Given the description of an element on the screen output the (x, y) to click on. 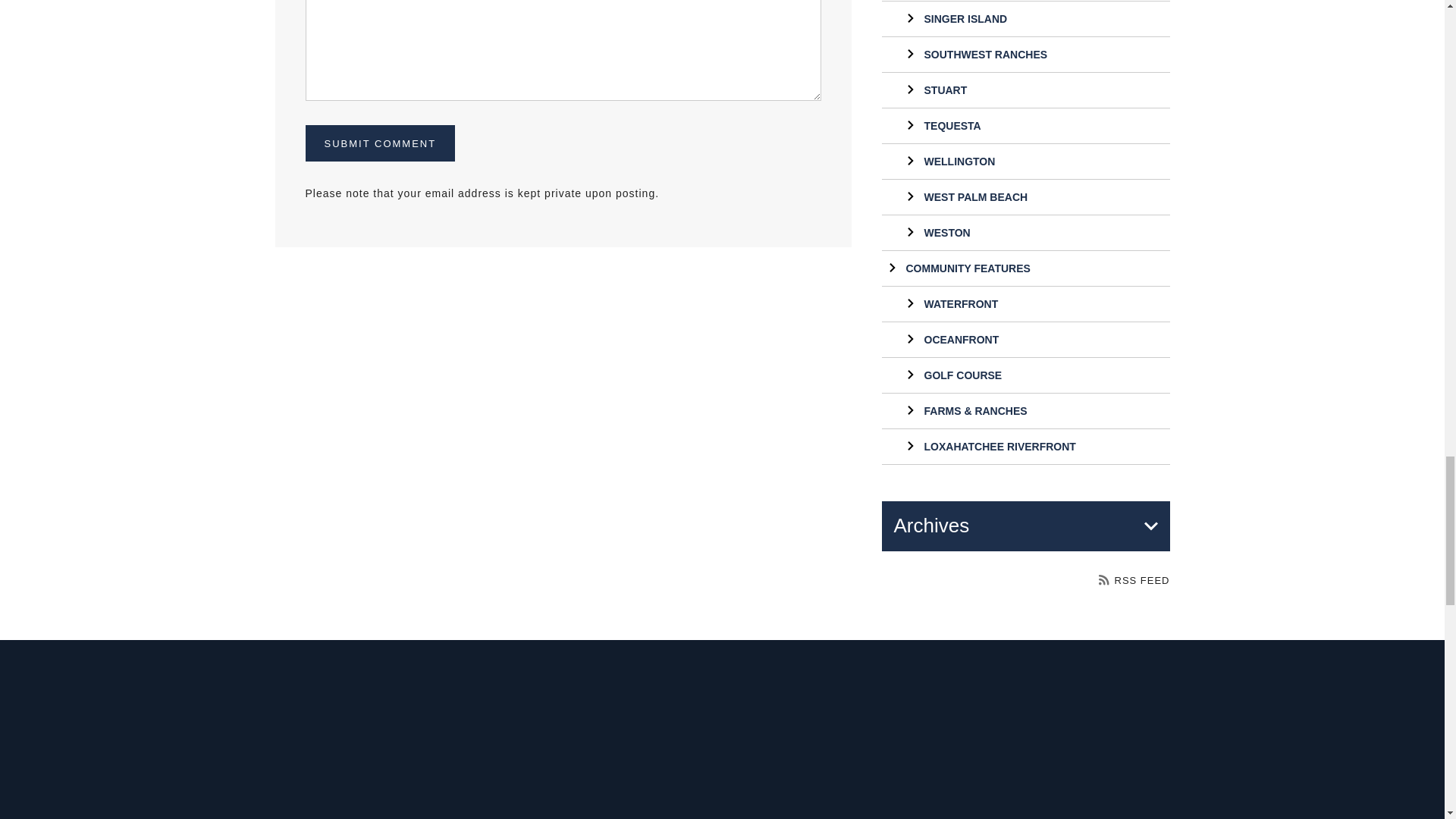
RSS FEED (1134, 580)
